Given the description of an element on the screen output the (x, y) to click on. 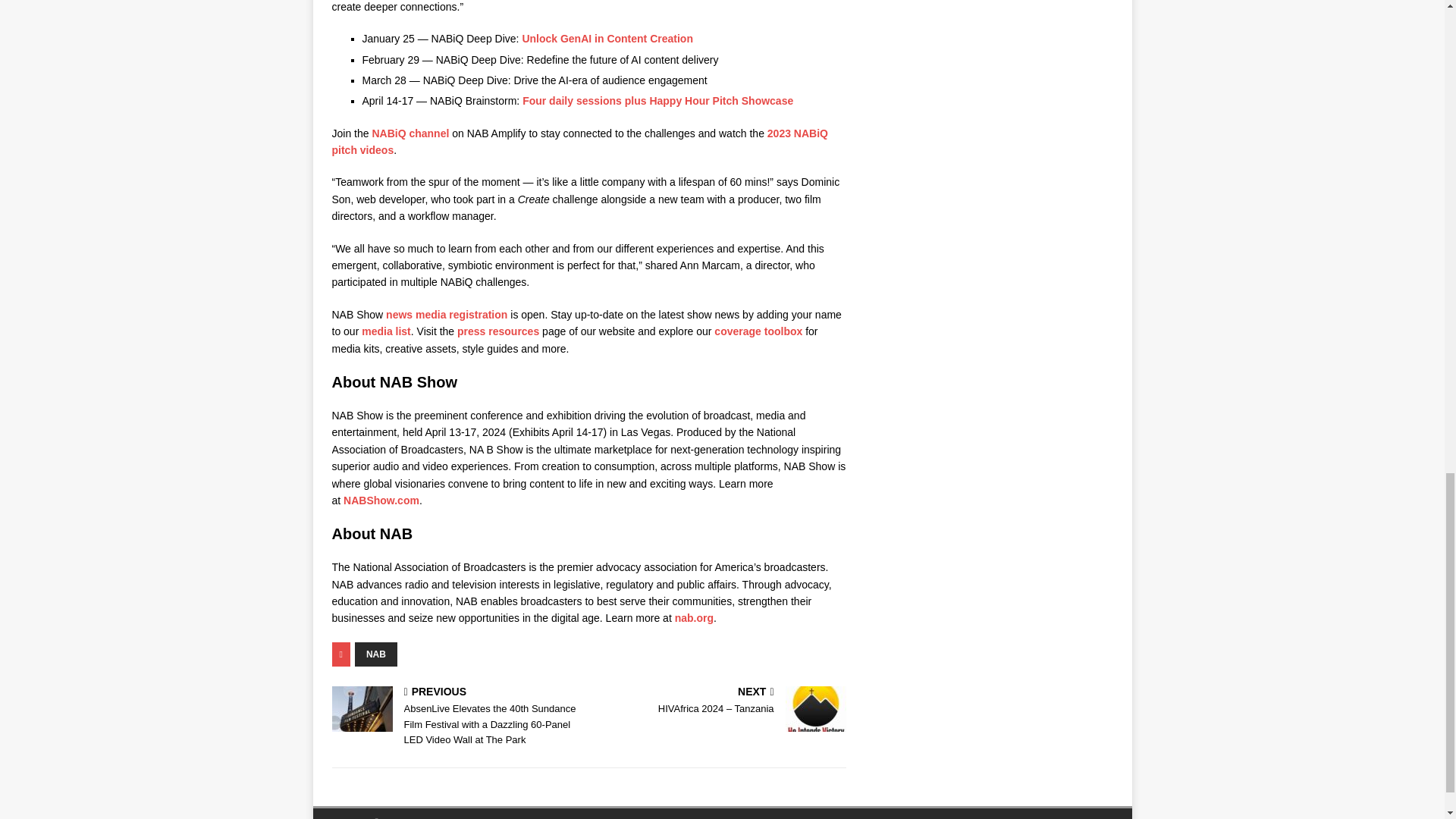
NABiQ channel (409, 133)
news media registration  (448, 314)
Four daily sessions plus Happy Hour Pitch Showcase (657, 101)
media list (385, 331)
press resources (497, 331)
Unlock GenAI in Content Creation (607, 38)
2023 NABiQ pitch videos (579, 141)
